Given the description of an element on the screen output the (x, y) to click on. 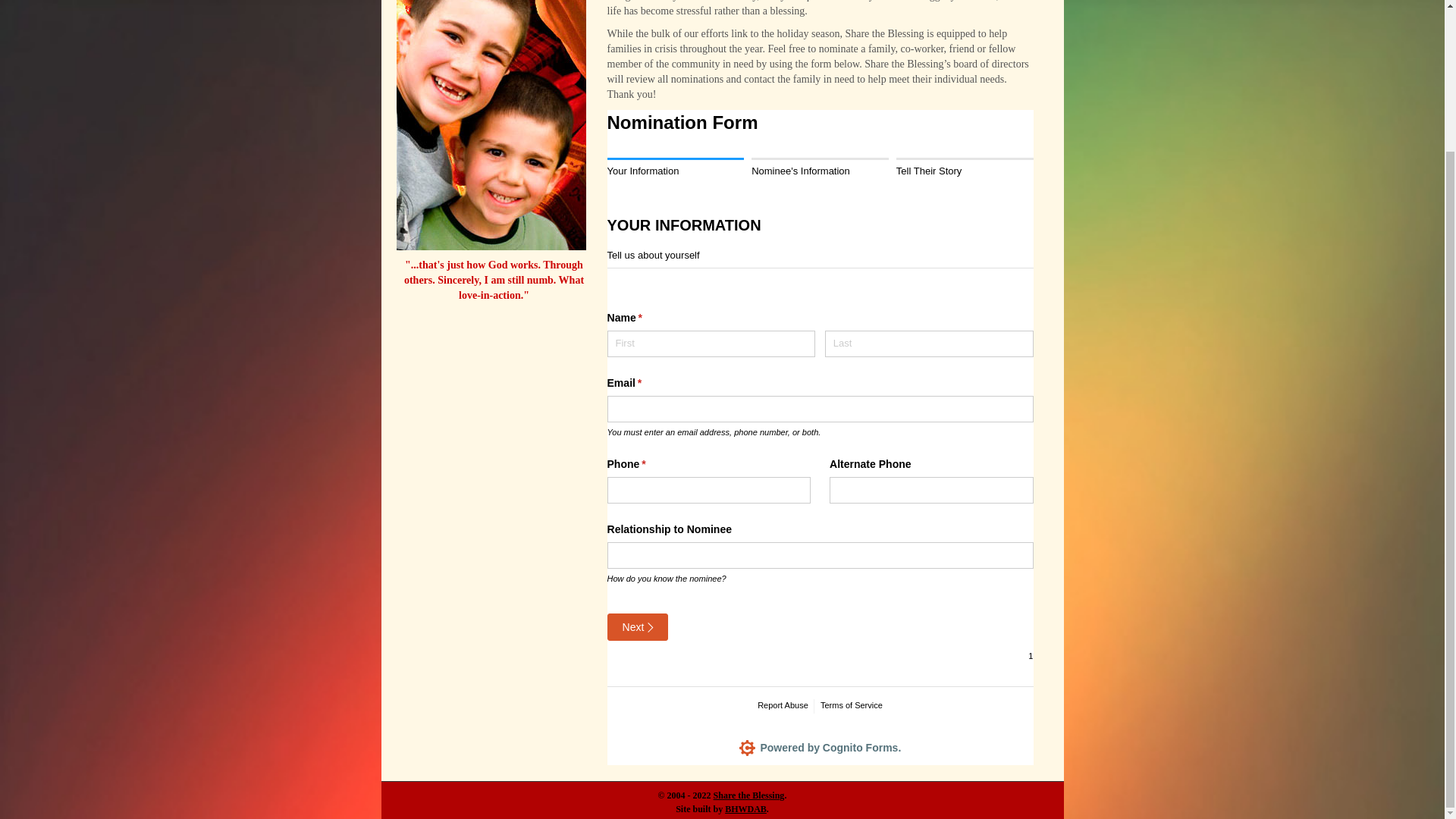
First (711, 343)
Share the Blessing (748, 795)
Next (636, 626)
Last (819, 162)
Powered by Cognito Forms. (929, 343)
Terms of Service (820, 747)
Report Abuse (825, 168)
Your Information (851, 706)
Nominee's Information (819, 162)
Tell Their Story (782, 706)
BHWDAB (675, 170)
